Given the description of an element on the screen output the (x, y) to click on. 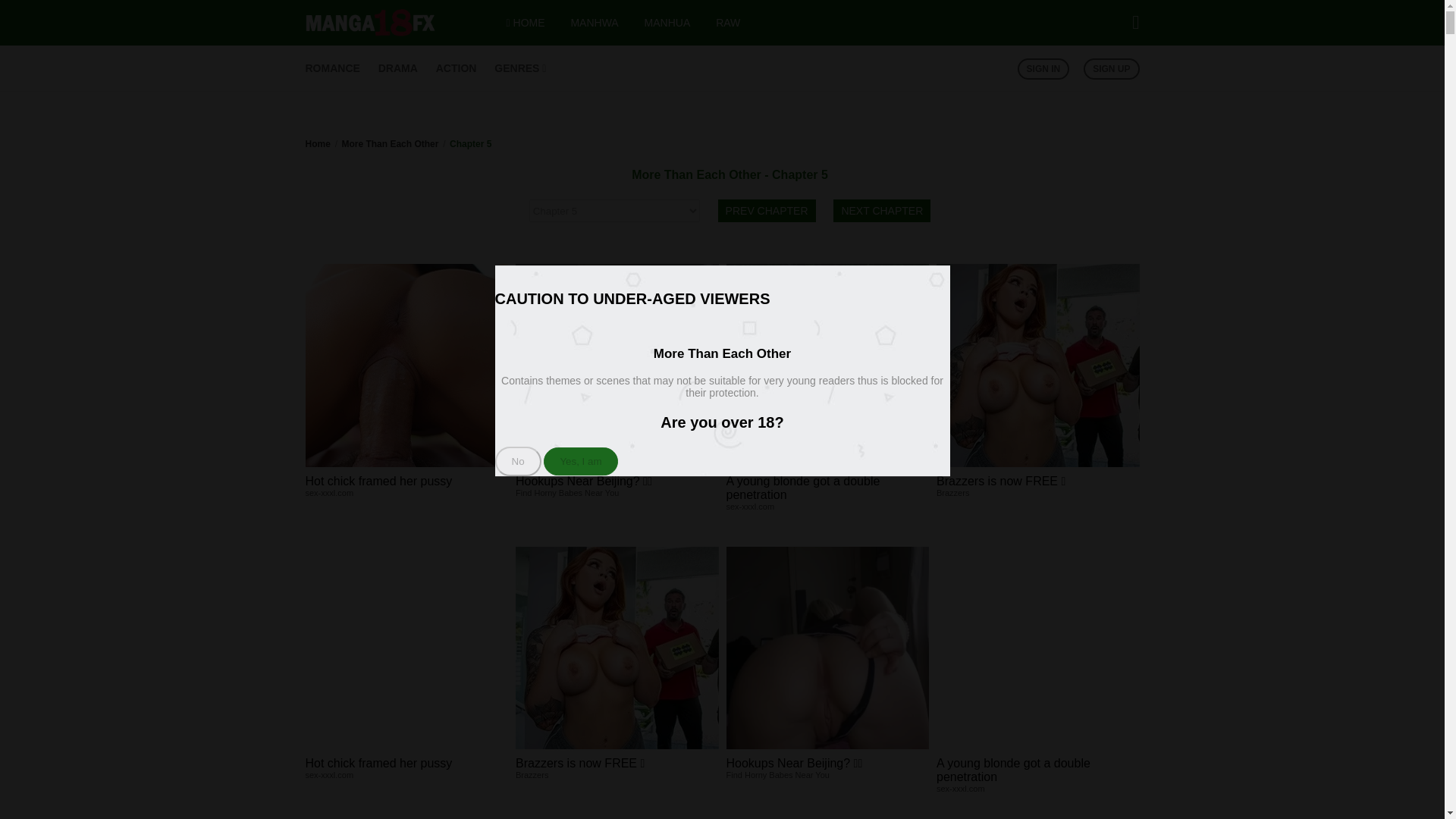
HOME (525, 22)
MANHUA (667, 22)
Manhua Online (667, 22)
DRAMA (397, 68)
Manhwa Raw (727, 22)
Read Manga Online in English Free (525, 22)
MANHWA (593, 22)
GENRES (520, 68)
Manhwa Online (593, 22)
Drama Manga (397, 68)
Manga List - Genres: All (520, 68)
ROMANCE (331, 68)
RAW (727, 22)
Romance Manga (331, 68)
Read Manga Online in English Free (368, 32)
